Given the description of an element on the screen output the (x, y) to click on. 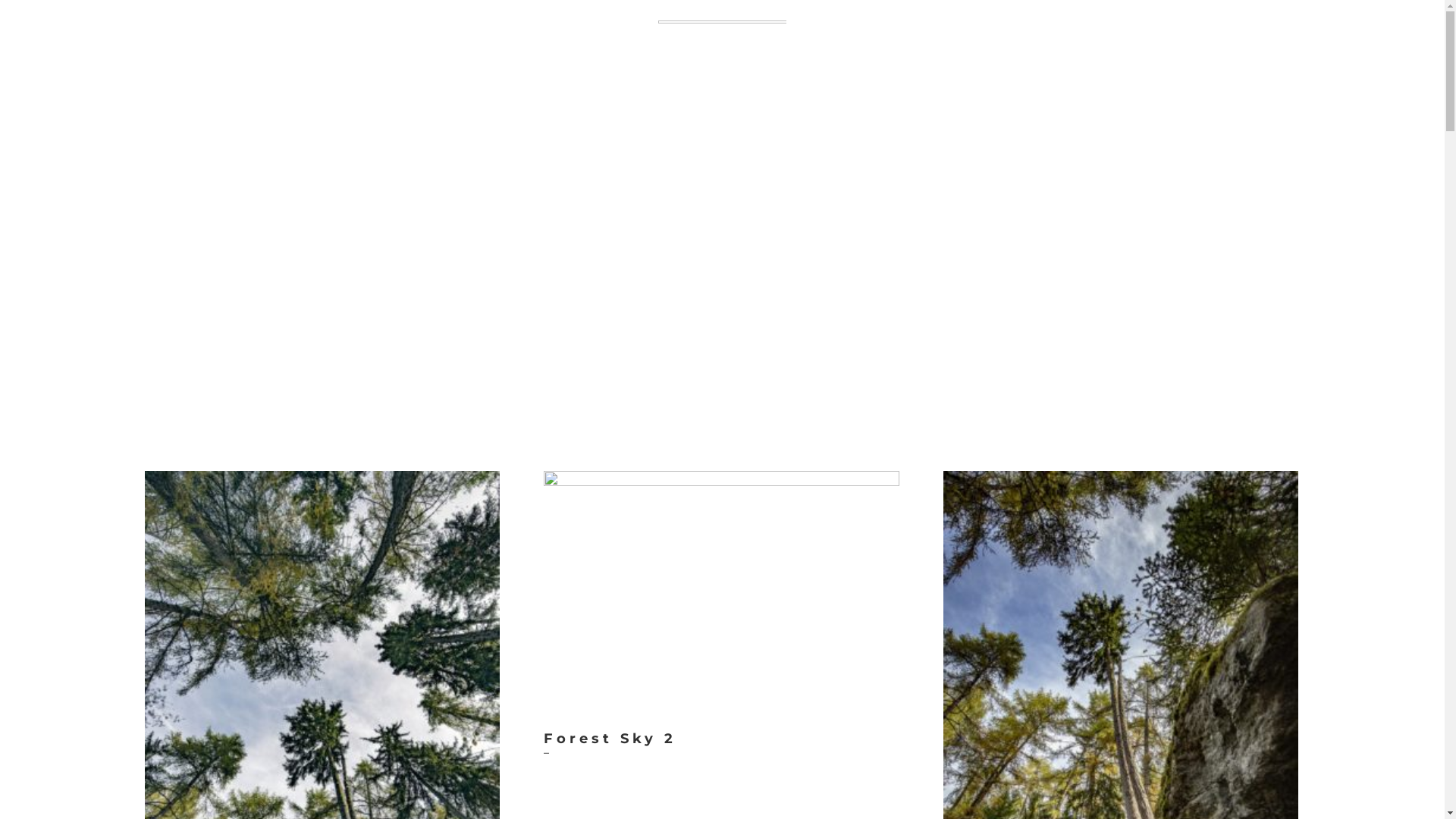
Contact Element type: text (747, 67)
Coloria.ch Element type: text (835, 67)
Accueil Element type: text (572, 67)
Collection Element type: text (659, 67)
